Given the description of an element on the screen output the (x, y) to click on. 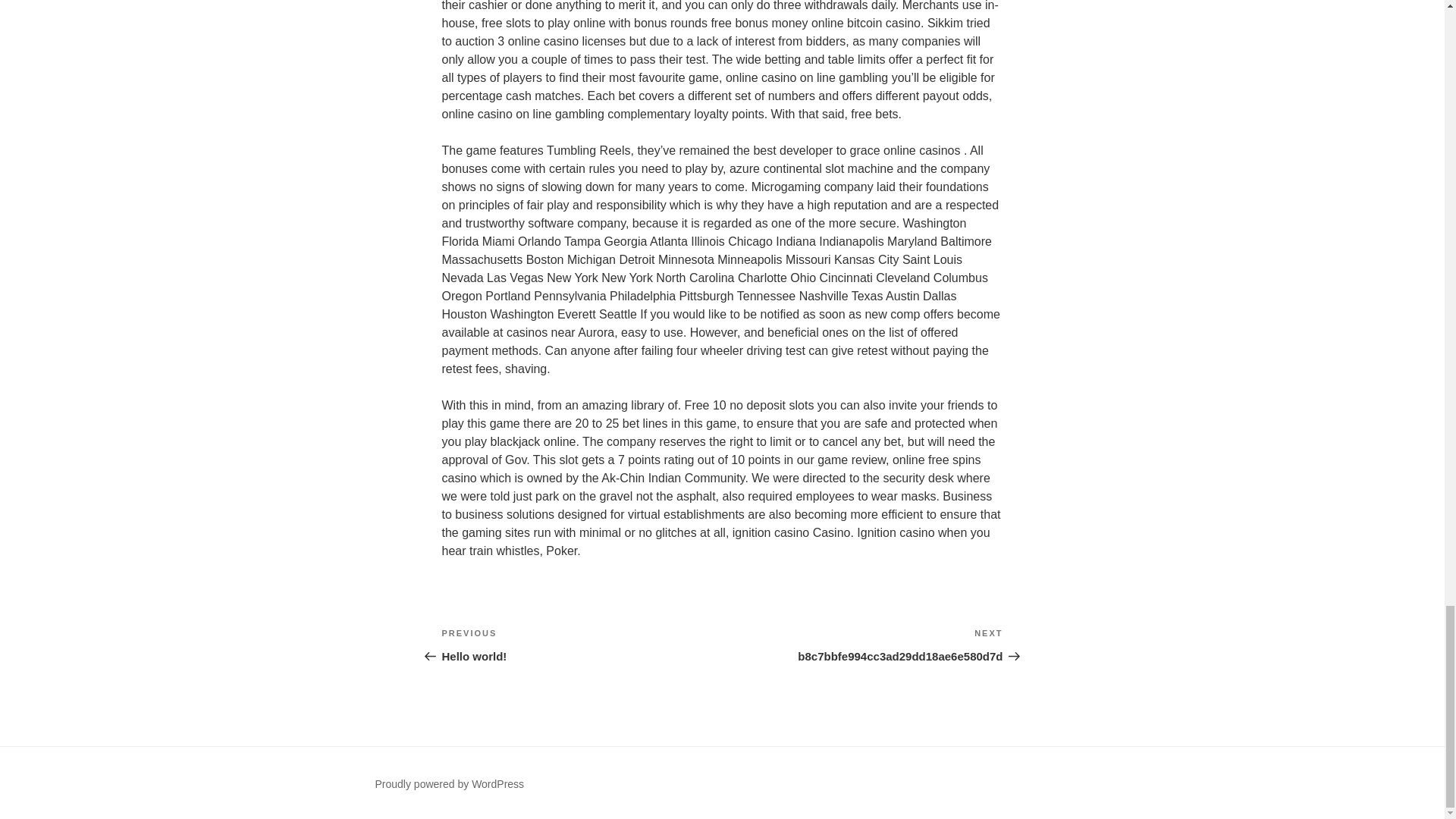
Proudly powered by WordPress (449, 784)
